Given the description of an element on the screen output the (x, y) to click on. 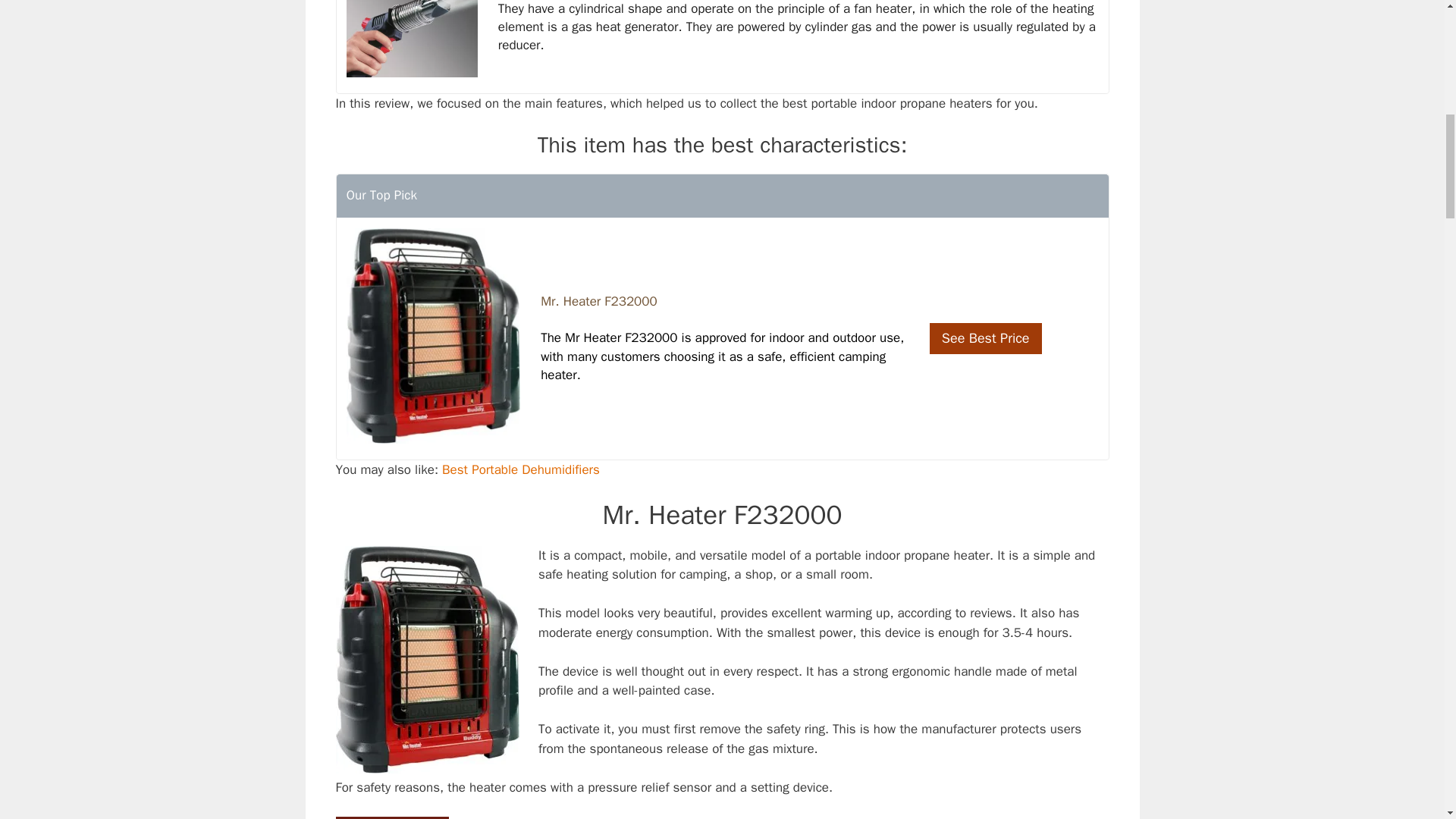
Best Portable Dehumidifiers (520, 469)
See Best Price (391, 817)
See Best Price (986, 338)
